Given the description of an element on the screen output the (x, y) to click on. 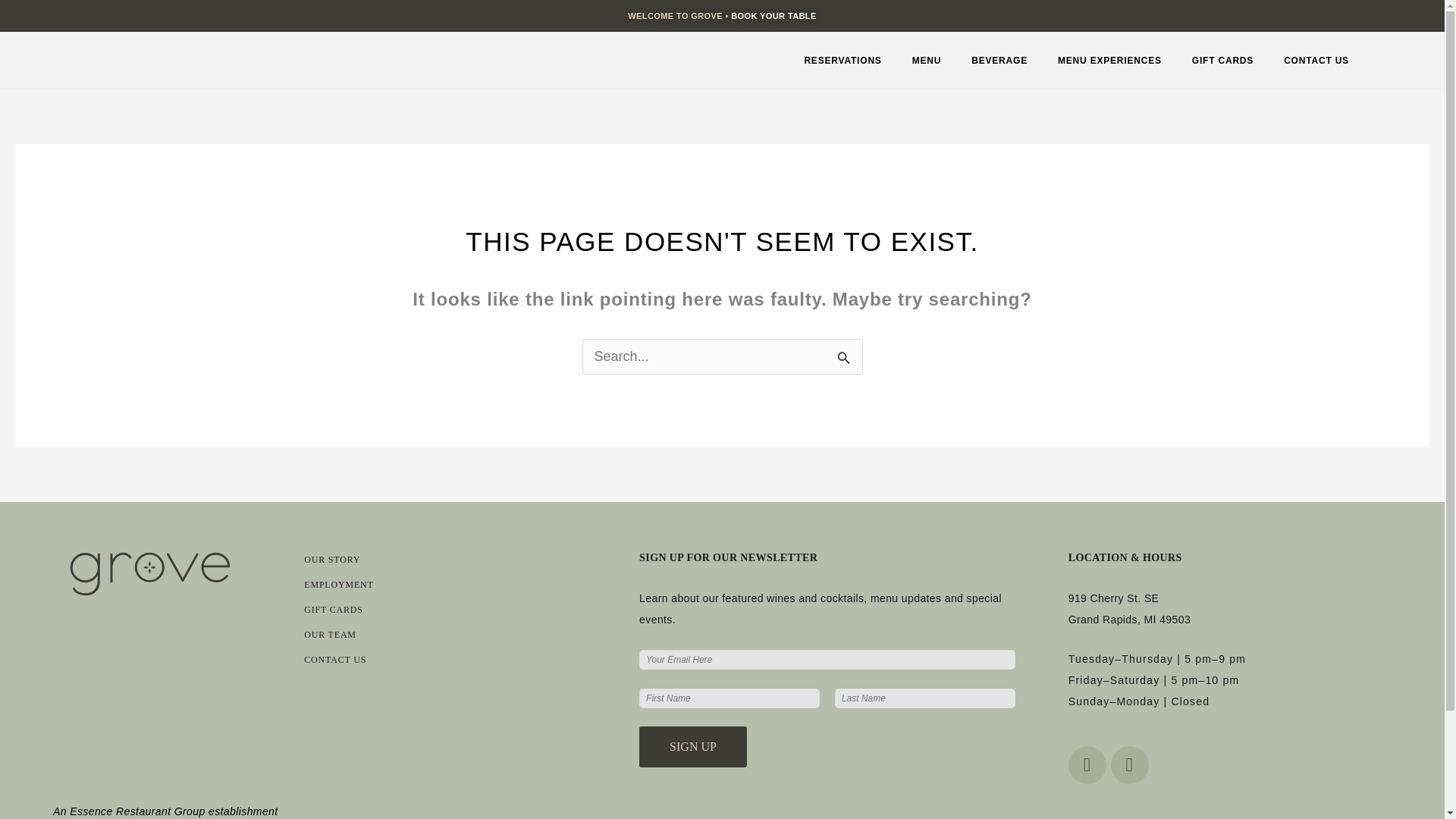
CONTACT US (335, 659)
CONTACT US (1316, 60)
OUR TEAM (330, 634)
Sign up (692, 746)
GIFT CARDS (333, 609)
Facebook (1087, 764)
MENU EXPERIENCES (1109, 60)
GIFT CARDS (1222, 60)
MENU (926, 60)
BOOK YOUR TABLE (773, 15)
